Given the description of an element on the screen output the (x, y) to click on. 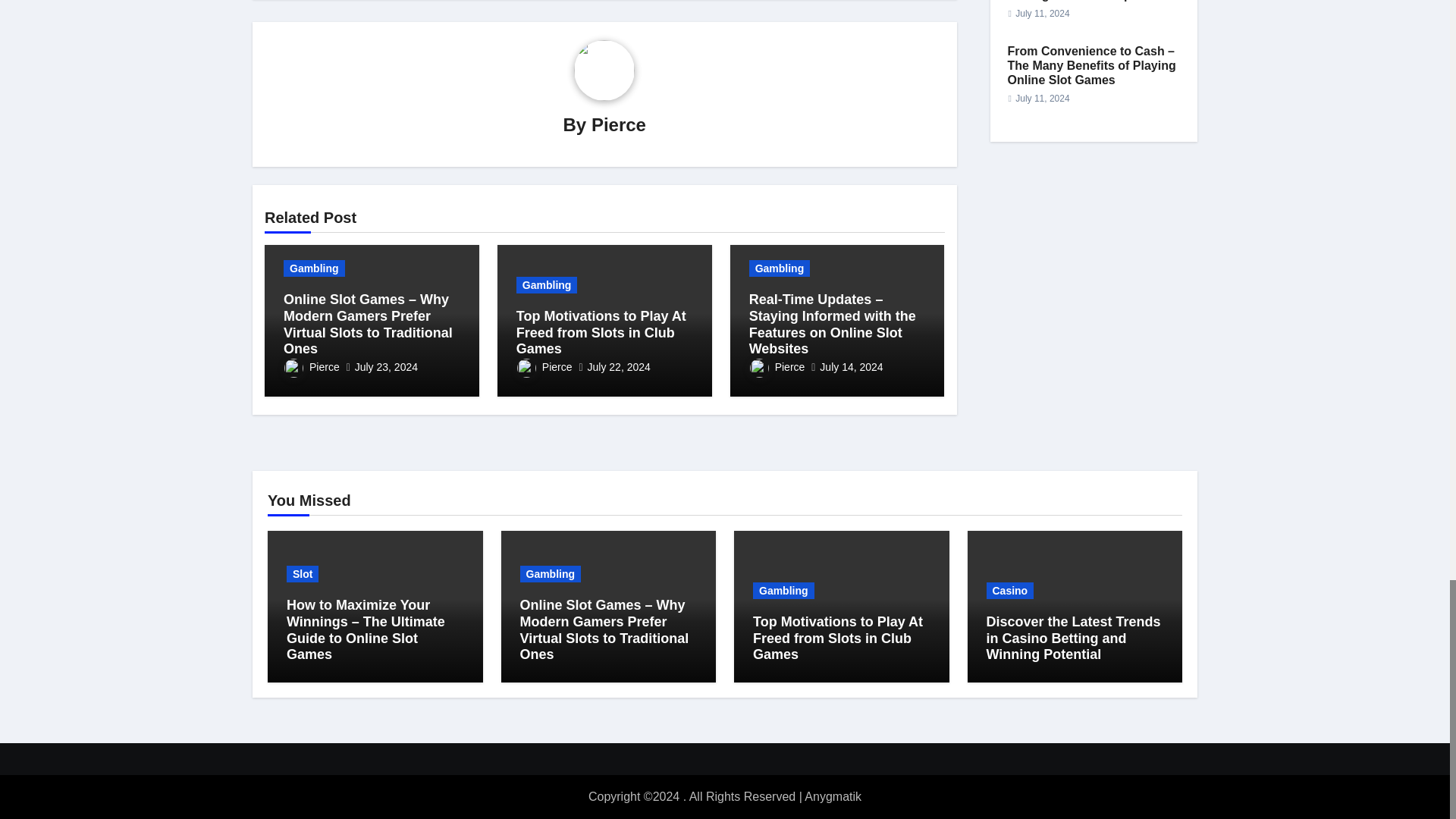
Pierce (618, 124)
